Given the description of an element on the screen output the (x, y) to click on. 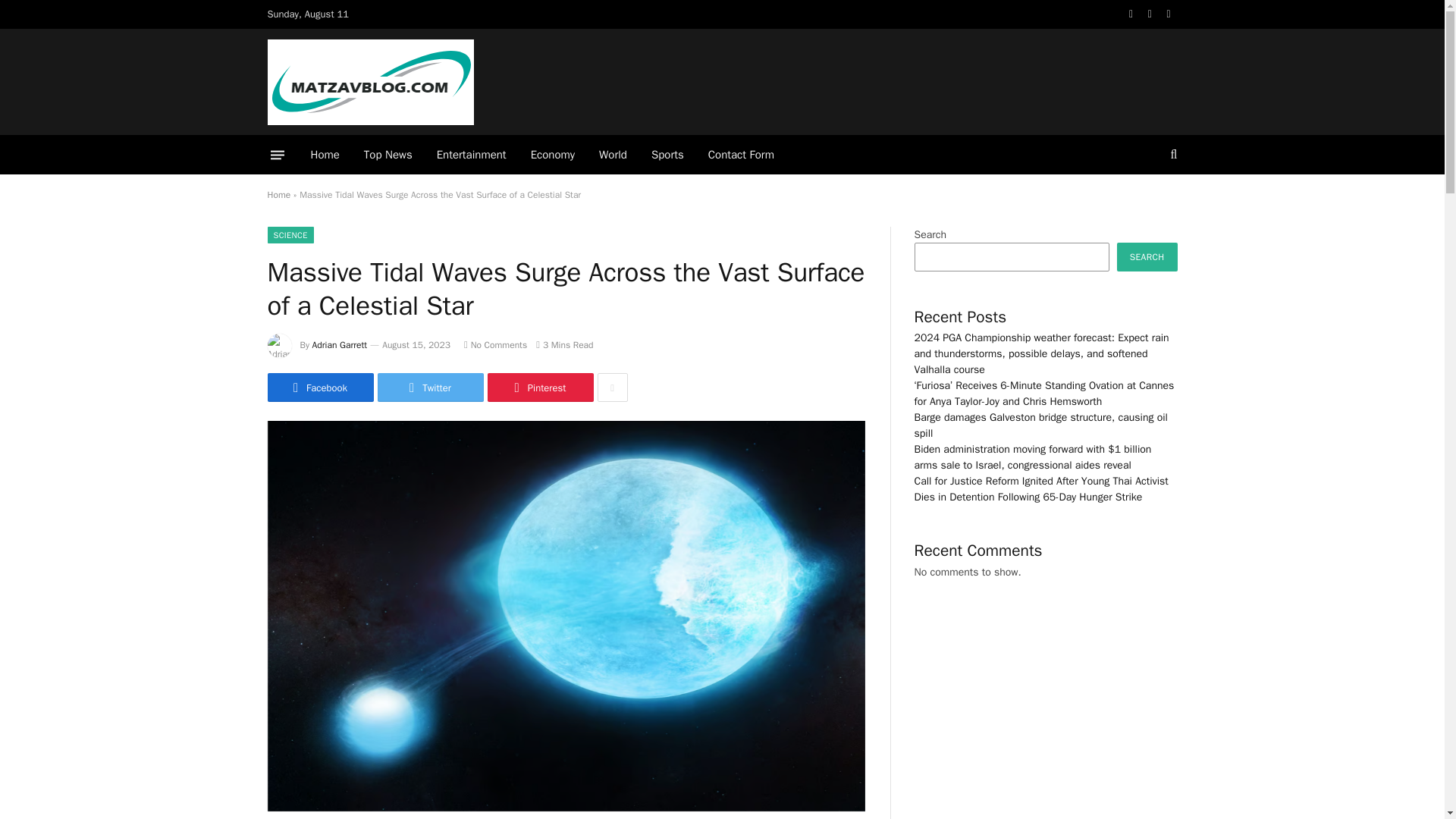
Sports (667, 154)
Contact Form (740, 154)
Pinterest (539, 387)
Posts by Adrian Garrett (340, 345)
World (612, 154)
No Comments (495, 345)
Economy (552, 154)
Home (277, 194)
Show More Social Sharing (611, 387)
Share on Facebook (319, 387)
